Given the description of an element on the screen output the (x, y) to click on. 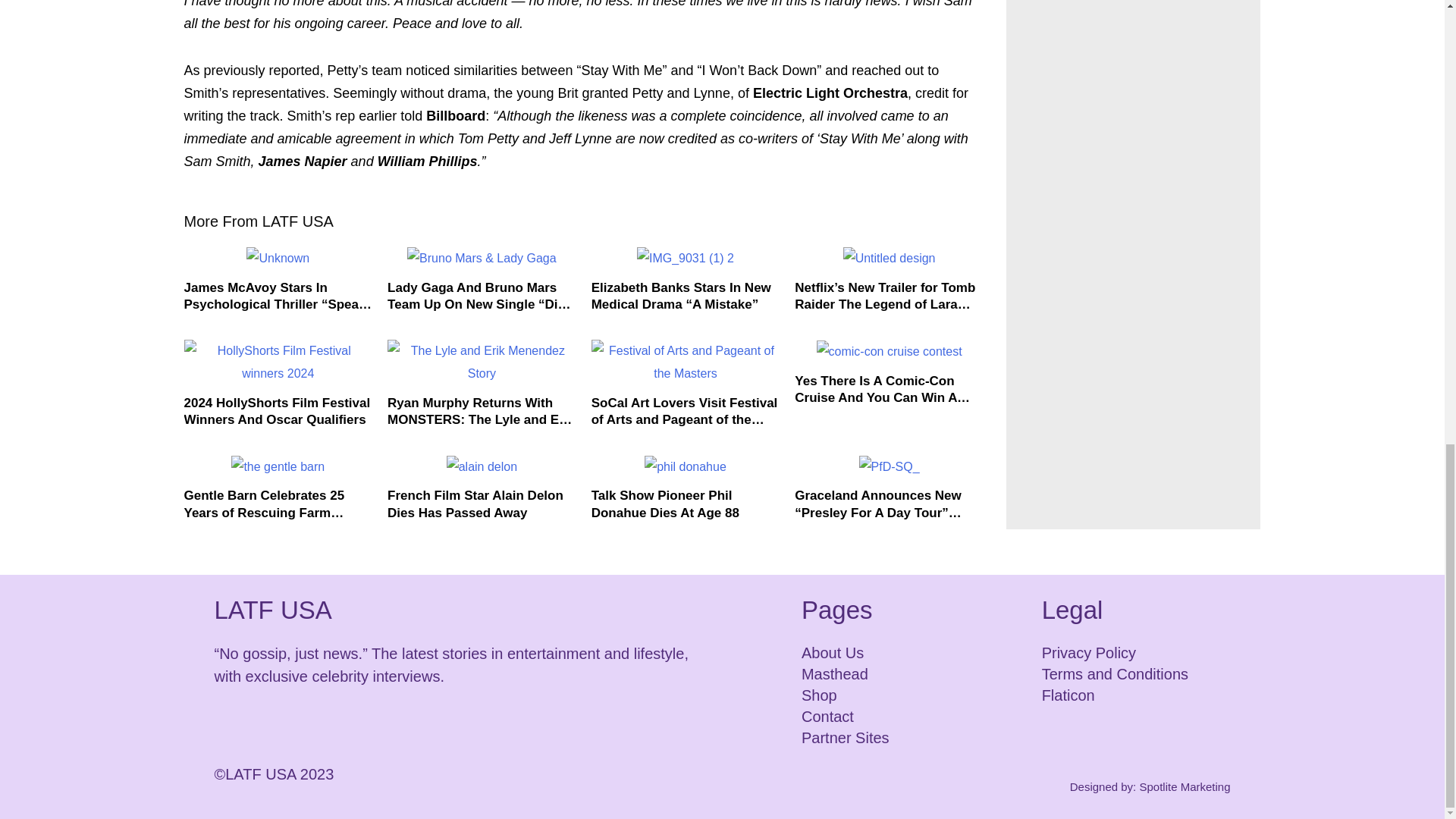
HollyShorts Film Festival winners 2024 (277, 361)
The Lyle and Erik Menendez Story (481, 361)
Unknown (277, 258)
alain delon (481, 466)
Festival of Arts and Pageant of the Masters (685, 361)
the gentle barn (277, 466)
phil donahue (685, 466)
comic-con cruise contest (889, 351)
Untitled design (889, 258)
